Given the description of an element on the screen output the (x, y) to click on. 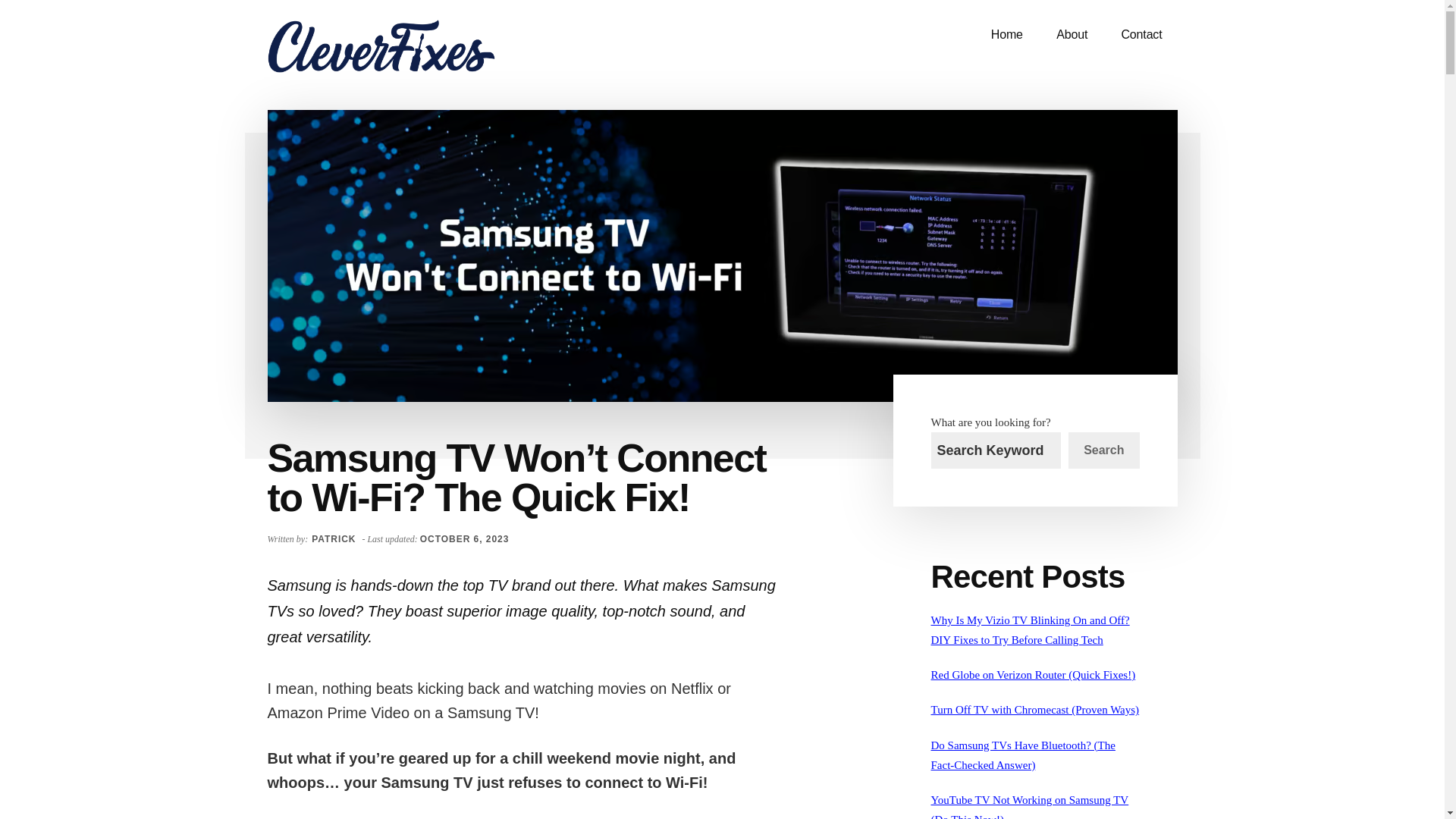
About (1071, 34)
Contact (1140, 34)
Search (1103, 450)
Home (1006, 34)
